Given the description of an element on the screen output the (x, y) to click on. 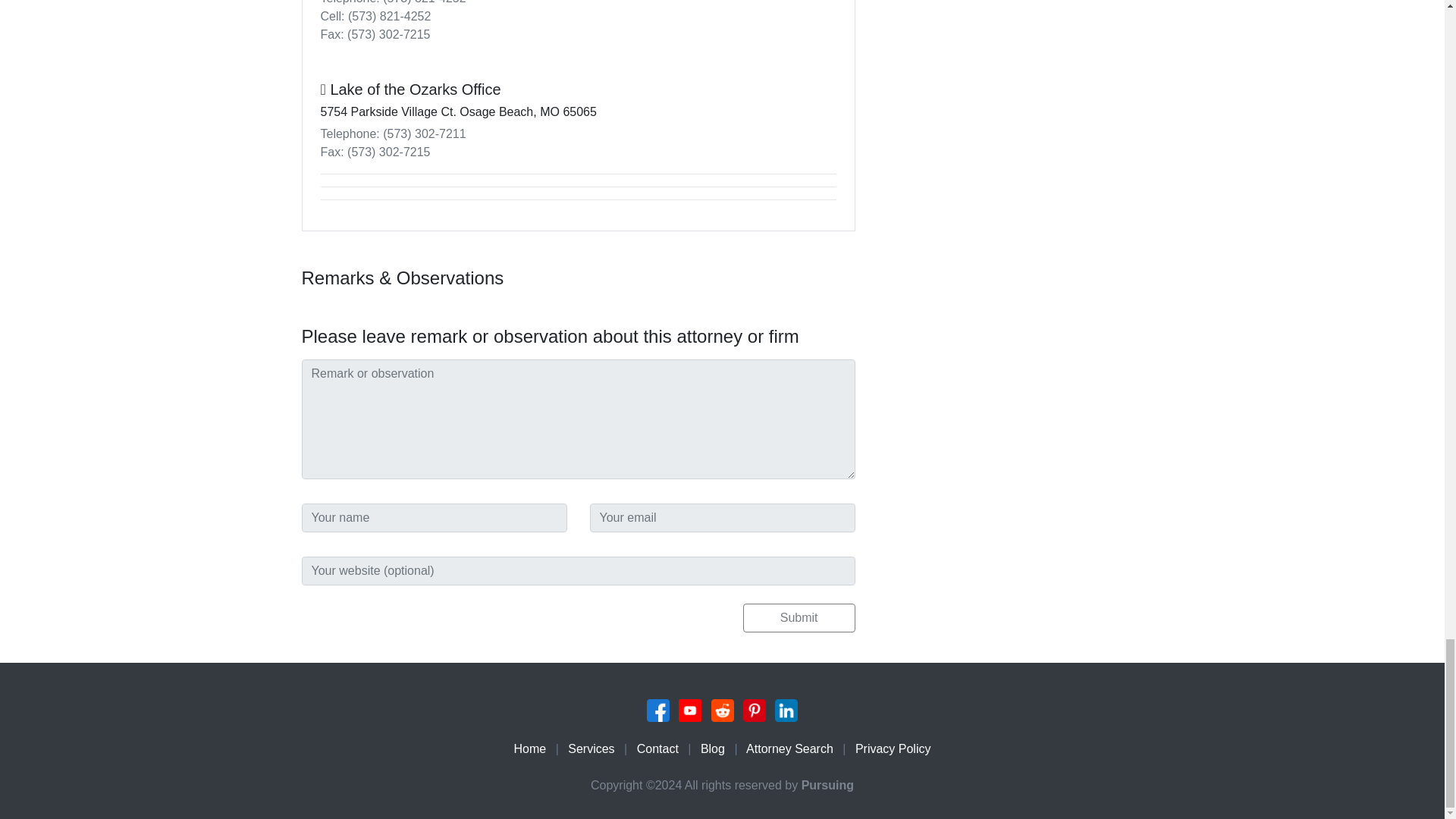
Blog (712, 748)
Services (590, 748)
Submit (799, 617)
Contact (657, 748)
Attorney Search (788, 748)
Home (530, 748)
Submit (799, 617)
Privacy Policy (893, 748)
